Given the description of an element on the screen output the (x, y) to click on. 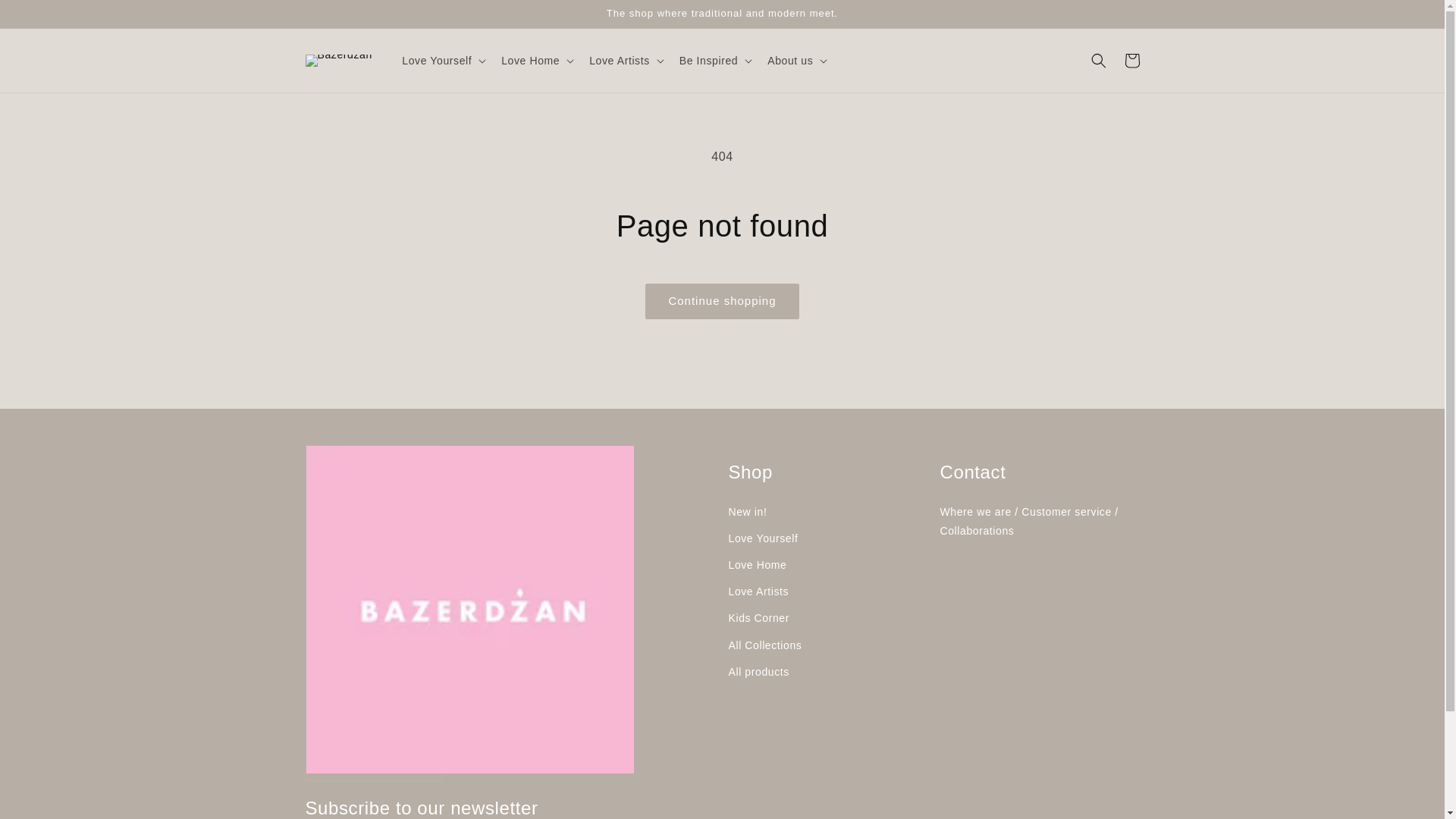
Love Home Element type: text (827, 565)
Cart Element type: text (1131, 60)
Our story Element type: text (616, 511)
Love Artists Element type: text (827, 591)
All products Element type: text (827, 671)
Where we are / Customer service / Collaborations Element type: text (1039, 521)
Love Yourself Element type: text (827, 538)
Kids Corner Element type: text (827, 618)
Contact us Element type: text (616, 565)
Be Inspired Element type: text (616, 538)
All Collections Element type: text (827, 645)
New in! Element type: text (827, 511)
Continue shopping Element type: text (721, 301)
